Given the description of an element on the screen output the (x, y) to click on. 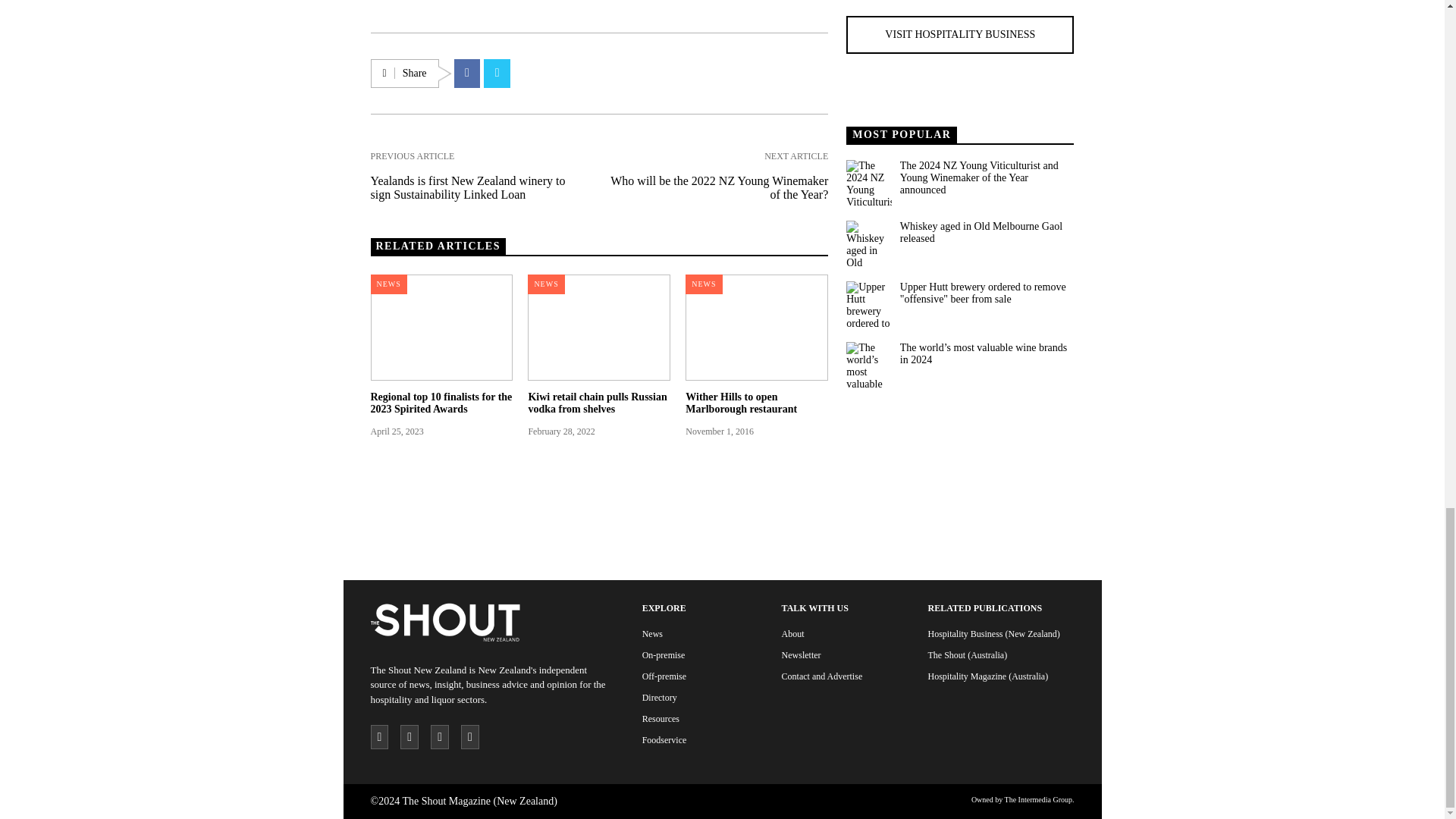
Whiskey aged in Old Melbourne Gaol released (868, 243)
Whiskey aged in Old Melbourne Gaol released (986, 232)
